Given the description of an element on the screen output the (x, y) to click on. 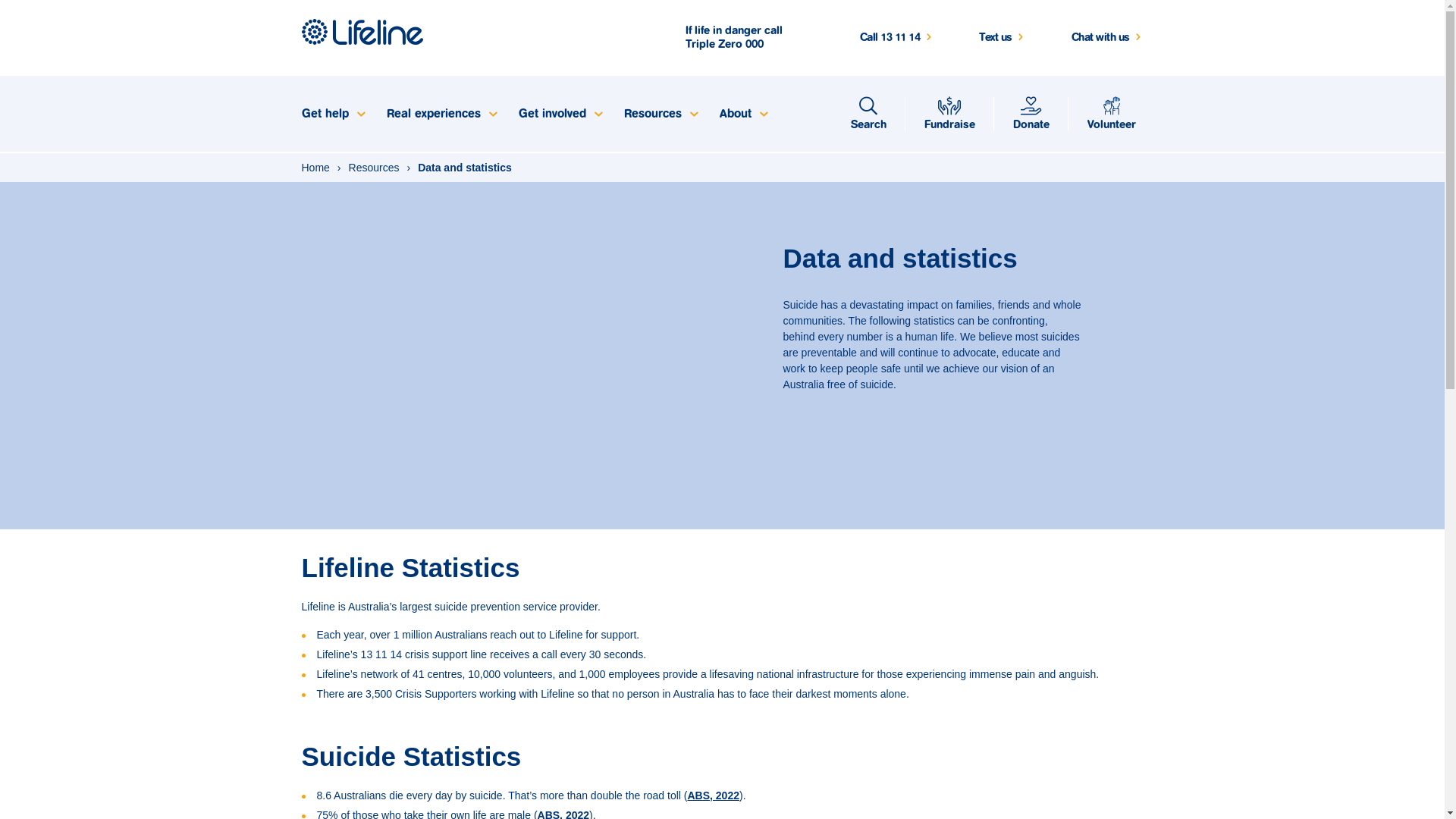
Get help Element type: text (331, 113)
Resources Element type: text (660, 113)
Call 13 11 14 Element type: text (896, 38)
Real experiences Element type: text (440, 113)
Resources Element type: text (373, 166)
Text us Element type: text (1002, 38)
000 Element type: text (753, 44)
Donate Element type: text (1030, 113)
Fundraise Element type: text (949, 113)
Volunteer Element type: text (1110, 113)
About Element type: text (743, 113)
Chat with us Element type: text (1106, 38)
Home Element type: text (315, 166)
Search Element type: text (867, 113)
ABS, 2022 Element type: text (712, 795)
Get involved Element type: text (558, 113)
